Given the description of an element on the screen output the (x, y) to click on. 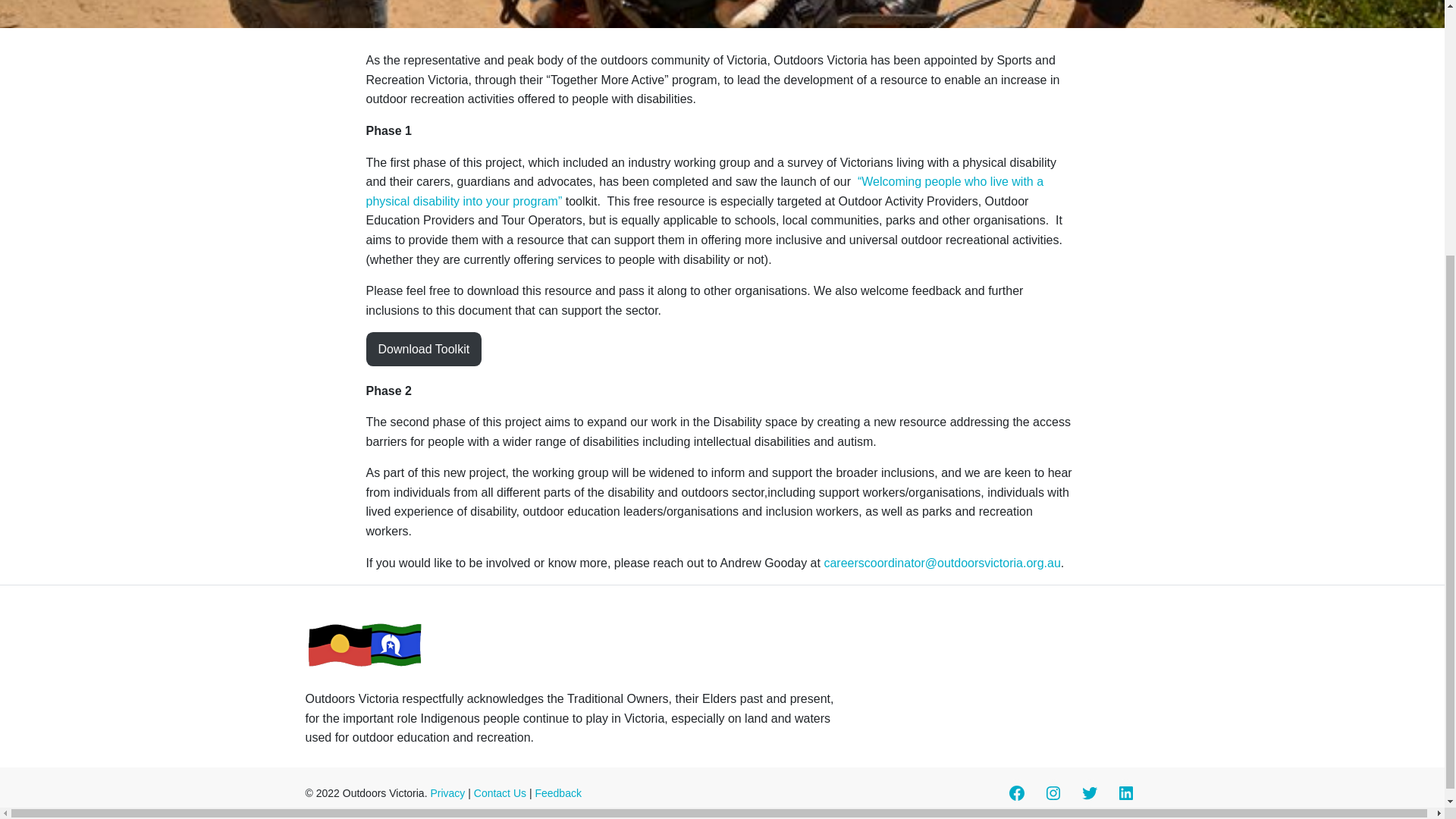
Instagram (1052, 792)
Facebook (1016, 792)
Privacy (446, 793)
Download Toolkit (423, 348)
LinkedIn (1125, 792)
Contact Us (499, 793)
Feedback (557, 793)
Twitter (1088, 792)
